Given the description of an element on the screen output the (x, y) to click on. 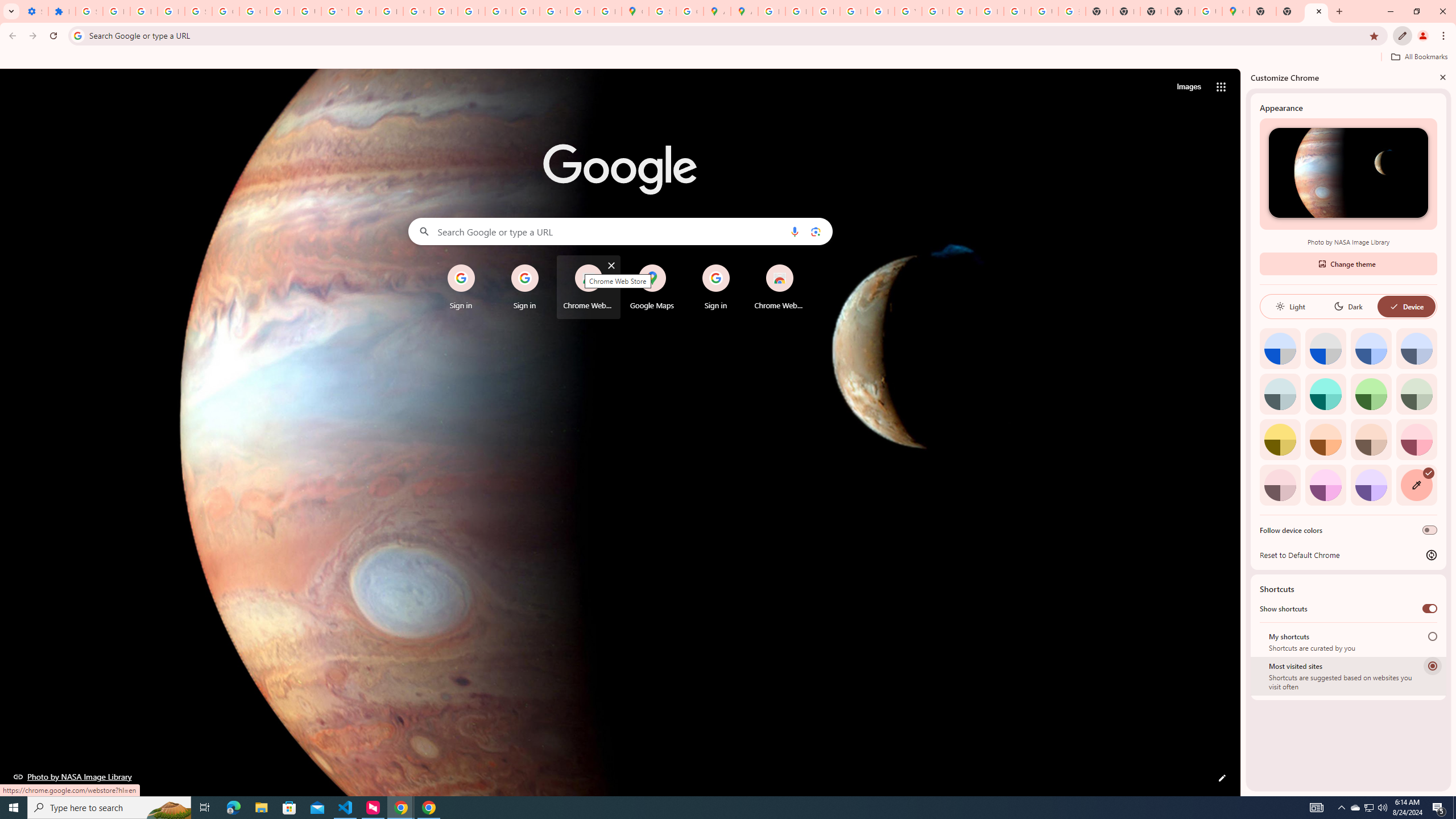
Search Google or type a URL (619, 230)
Default color (1279, 348)
AutomationID: baseSvg (1394, 306)
New Tab (1289, 11)
Custom color (1416, 484)
Rose (1416, 439)
https://scholar.google.com/ (389, 11)
